Given the description of an element on the screen output the (x, y) to click on. 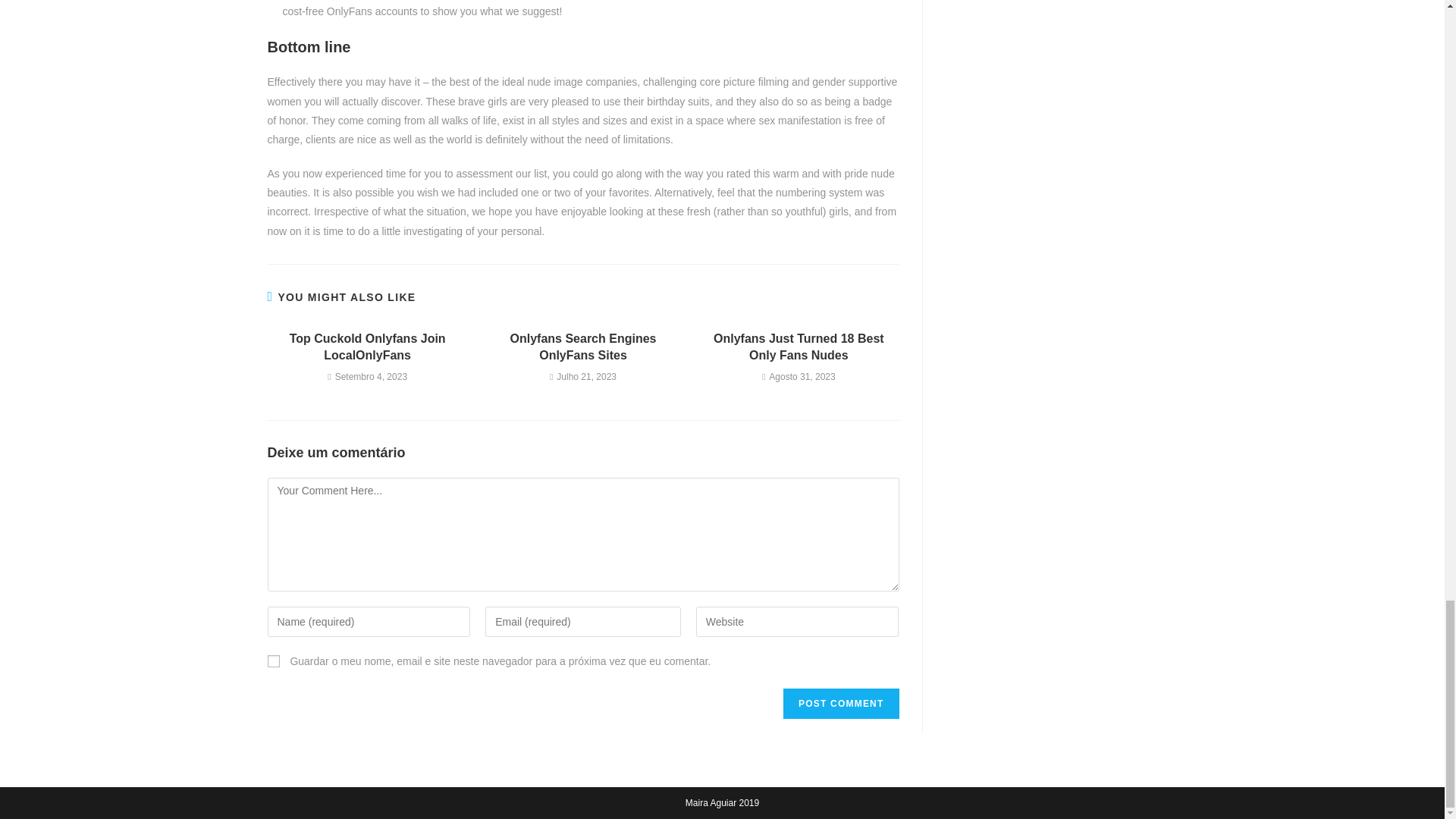
Top Cuckold Onlyfans Join LocalOnlyFans (367, 347)
yes (272, 661)
Onlyfans Search Engines OnlyFans Sites (583, 347)
Onlyfans Just Turned 18 Best Only Fans Nudes (798, 347)
Post Comment (840, 703)
